Given the description of an element on the screen output the (x, y) to click on. 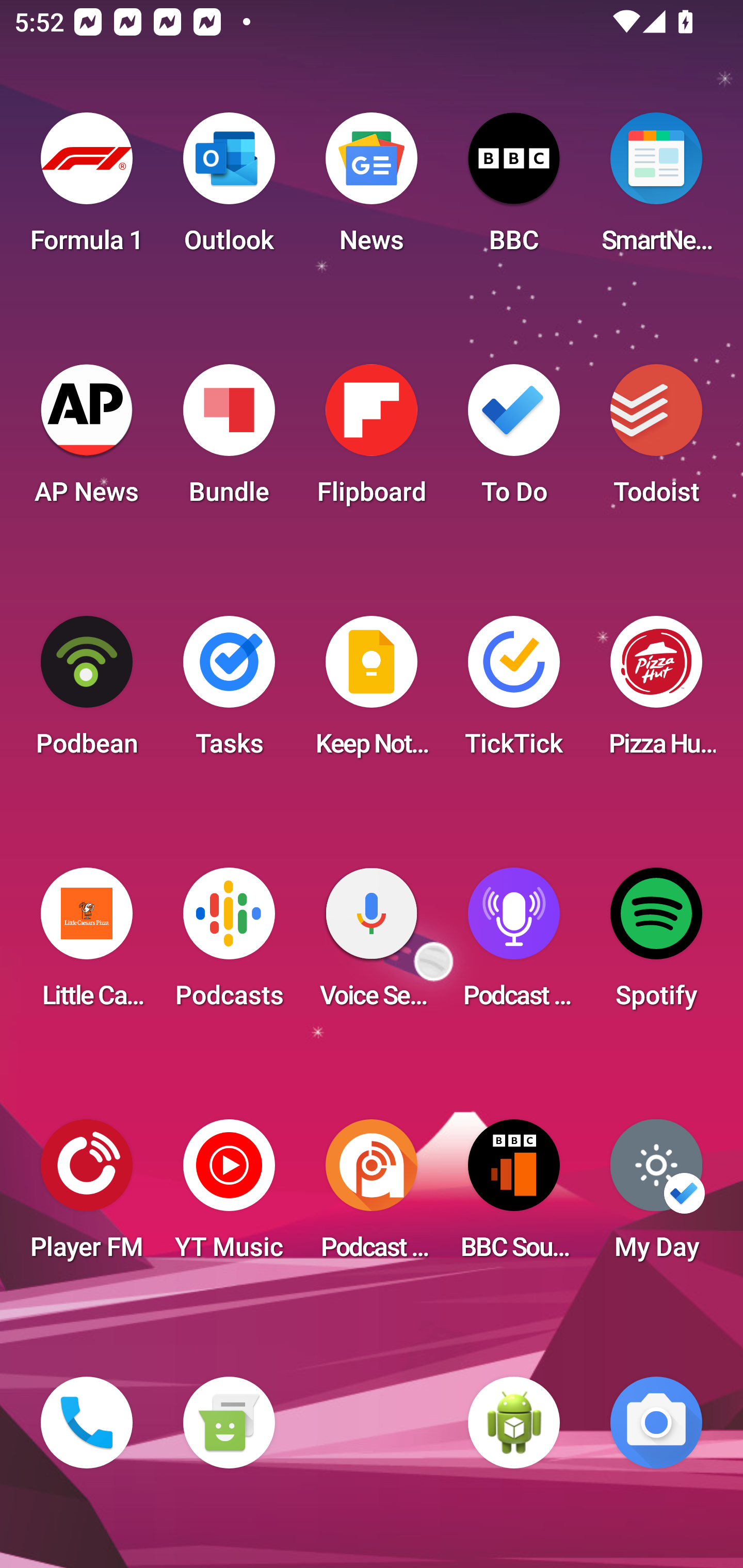
Formula 1 (86, 188)
Outlook (228, 188)
News (371, 188)
BBC (513, 188)
SmartNews (656, 188)
AP News (86, 440)
Bundle (228, 440)
Flipboard (371, 440)
To Do (513, 440)
Todoist (656, 440)
Podbean (86, 692)
Tasks (228, 692)
Keep Notes (371, 692)
TickTick (513, 692)
Pizza Hut HK & Macau (656, 692)
Little Caesars Pizza (86, 943)
Podcasts (228, 943)
Voice Search (371, 943)
Podcast Player (513, 943)
Spotify (656, 943)
Player FM (86, 1195)
YT Music (228, 1195)
Podcast Addict (371, 1195)
BBC Sounds (513, 1195)
My Day (656, 1195)
Phone (86, 1422)
Messaging (228, 1422)
WebView Browser Tester (513, 1422)
Camera (656, 1422)
